Given the description of an element on the screen output the (x, y) to click on. 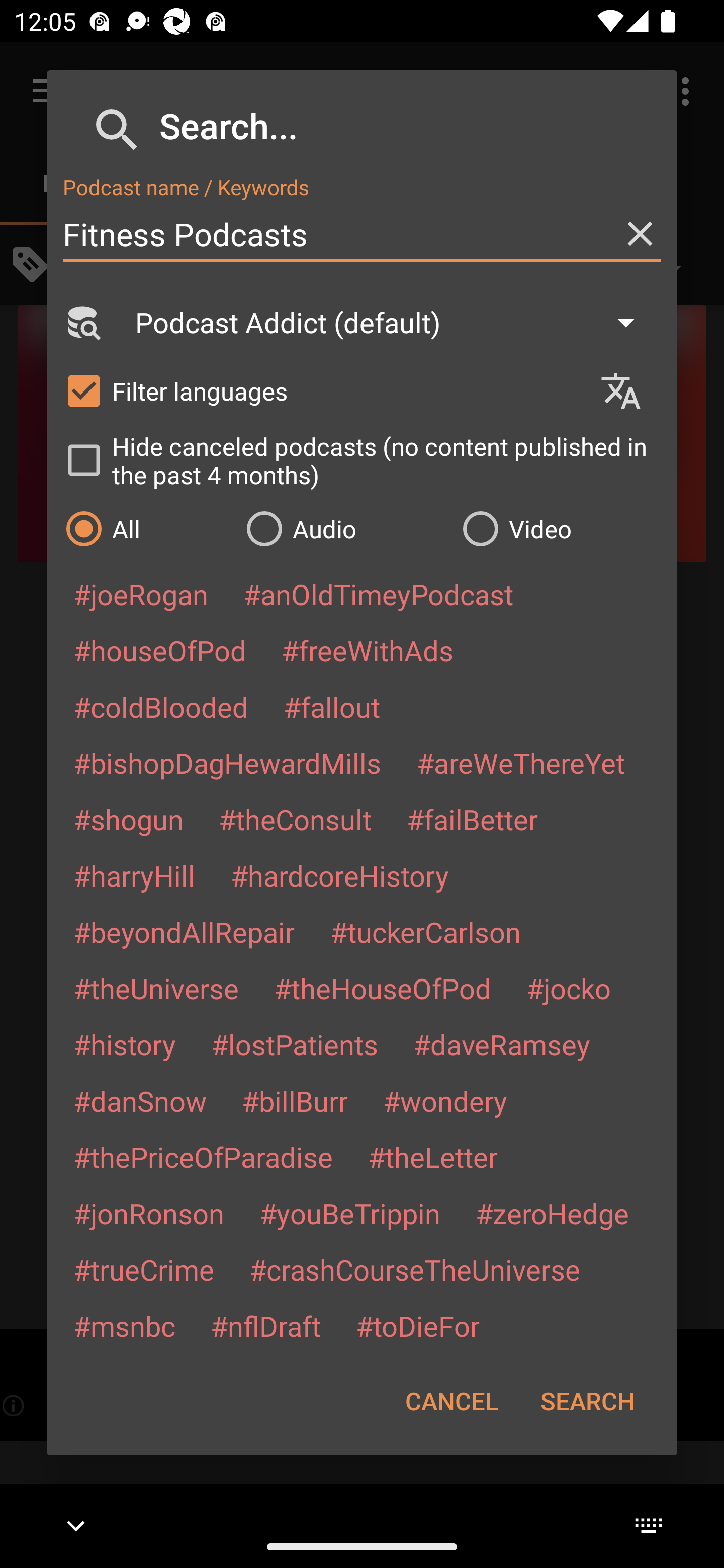
Fitness Podcasts (361, 234)
Search Engine (82, 322)
Podcast Addict (default) (394, 322)
Languages selection (629, 390)
Filter languages (322, 390)
All (145, 528)
Audio (344, 528)
Video (560, 528)
#joeRogan (140, 594)
#anOldTimeyPodcast (378, 594)
#houseOfPod (159, 650)
#freeWithAds (367, 650)
#coldBlooded (160, 705)
#fallout (331, 705)
#bishopDagHewardMills (227, 762)
#areWeThereYet (521, 762)
#shogun (128, 818)
#theConsult (294, 818)
#failBetter (471, 818)
#harryHill (134, 875)
#hardcoreHistory (339, 875)
#beyondAllRepair (184, 931)
#tuckerCarlson (425, 931)
#theUniverse (155, 987)
#theHouseOfPod (381, 987)
#jocko (568, 987)
#history (124, 1044)
#lostPatients (294, 1044)
#daveRamsey (501, 1044)
#danSnow (139, 1100)
#billBurr (294, 1100)
#wondery (444, 1100)
#thePriceOfParadise (203, 1157)
#theLetter (432, 1157)
#jonRonson (148, 1213)
#youBeTrippin (349, 1213)
#zeroHedge (552, 1213)
#trueCrime (143, 1268)
#crashCourseTheUniverse (414, 1268)
#msnbc (124, 1325)
#nflDraft (265, 1325)
#toDieFor (417, 1325)
CANCEL (451, 1400)
SEARCH (587, 1400)
